Given the description of an element on the screen output the (x, y) to click on. 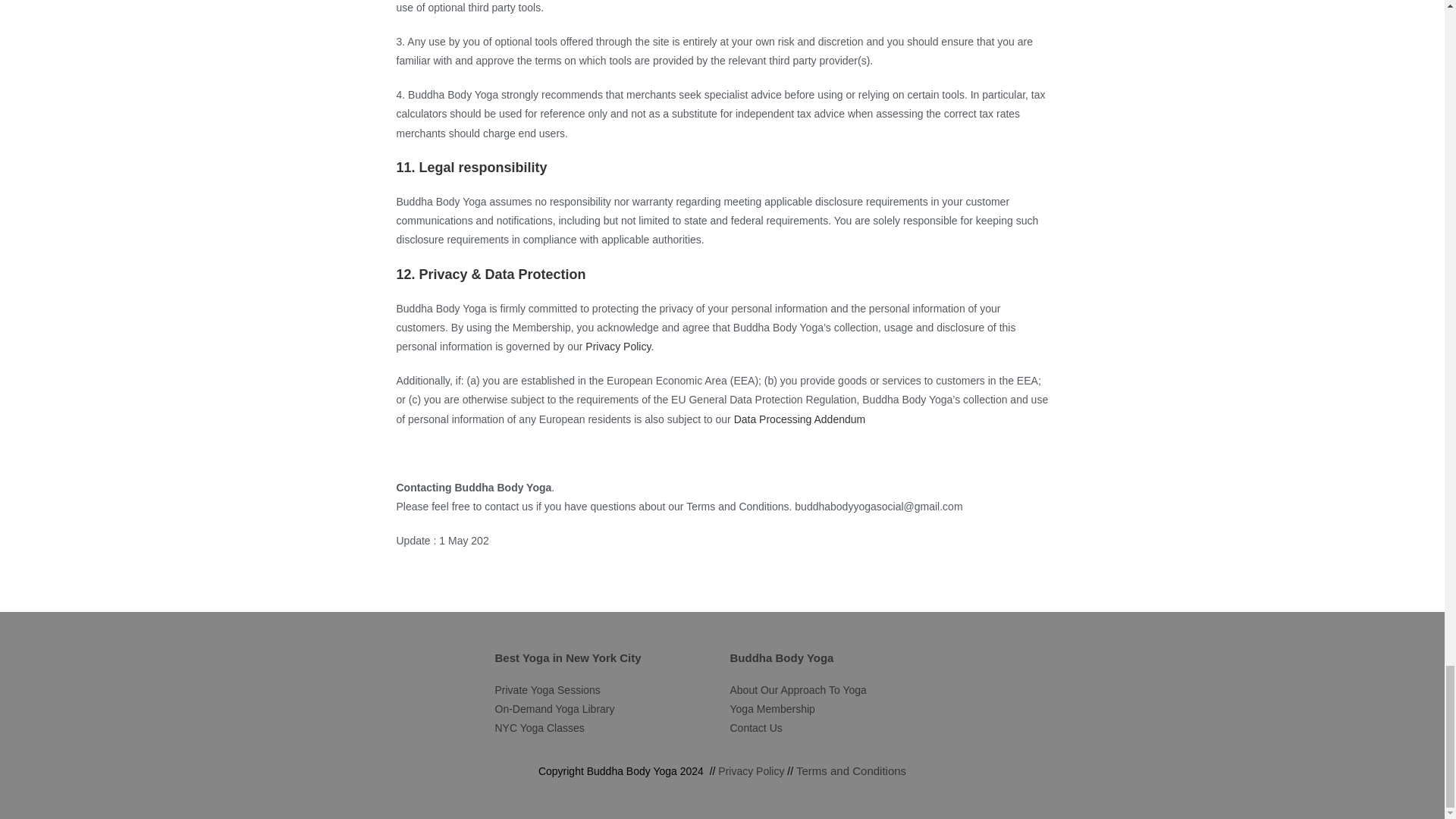
About Our Approach To Yoga (797, 689)
Yoga Membership (771, 708)
Data Processing Addendum (799, 419)
Privacy Policy (750, 770)
Terms and Conditions (850, 770)
NYC Yoga Classes (539, 727)
Private Yoga Sessions (547, 689)
Contact Us (755, 727)
On-Demand Yoga Library (554, 708)
Privacy Policy (617, 346)
